Given the description of an element on the screen output the (x, y) to click on. 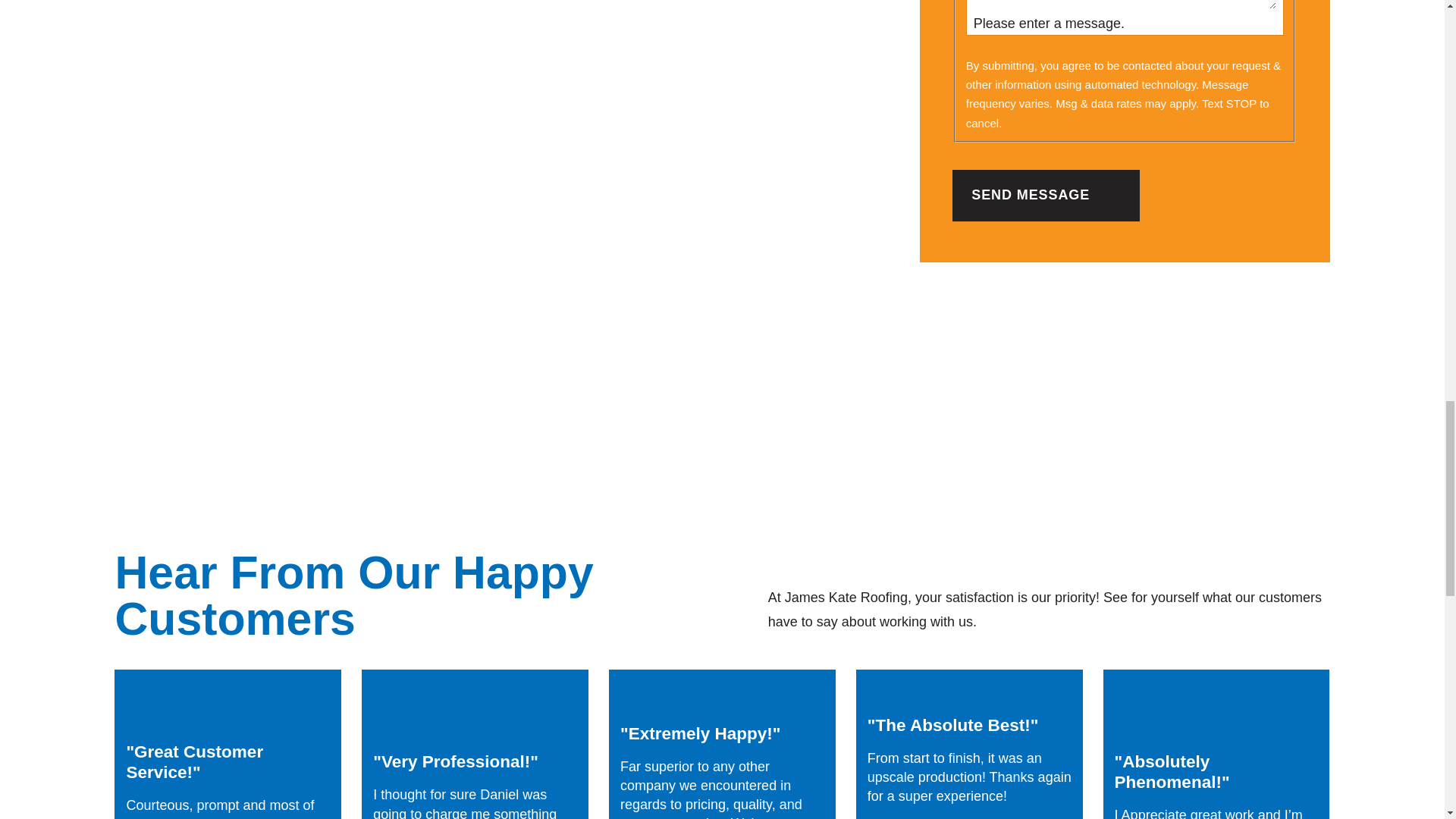
5 Star Rating (227, 714)
